Given the description of an element on the screen output the (x, y) to click on. 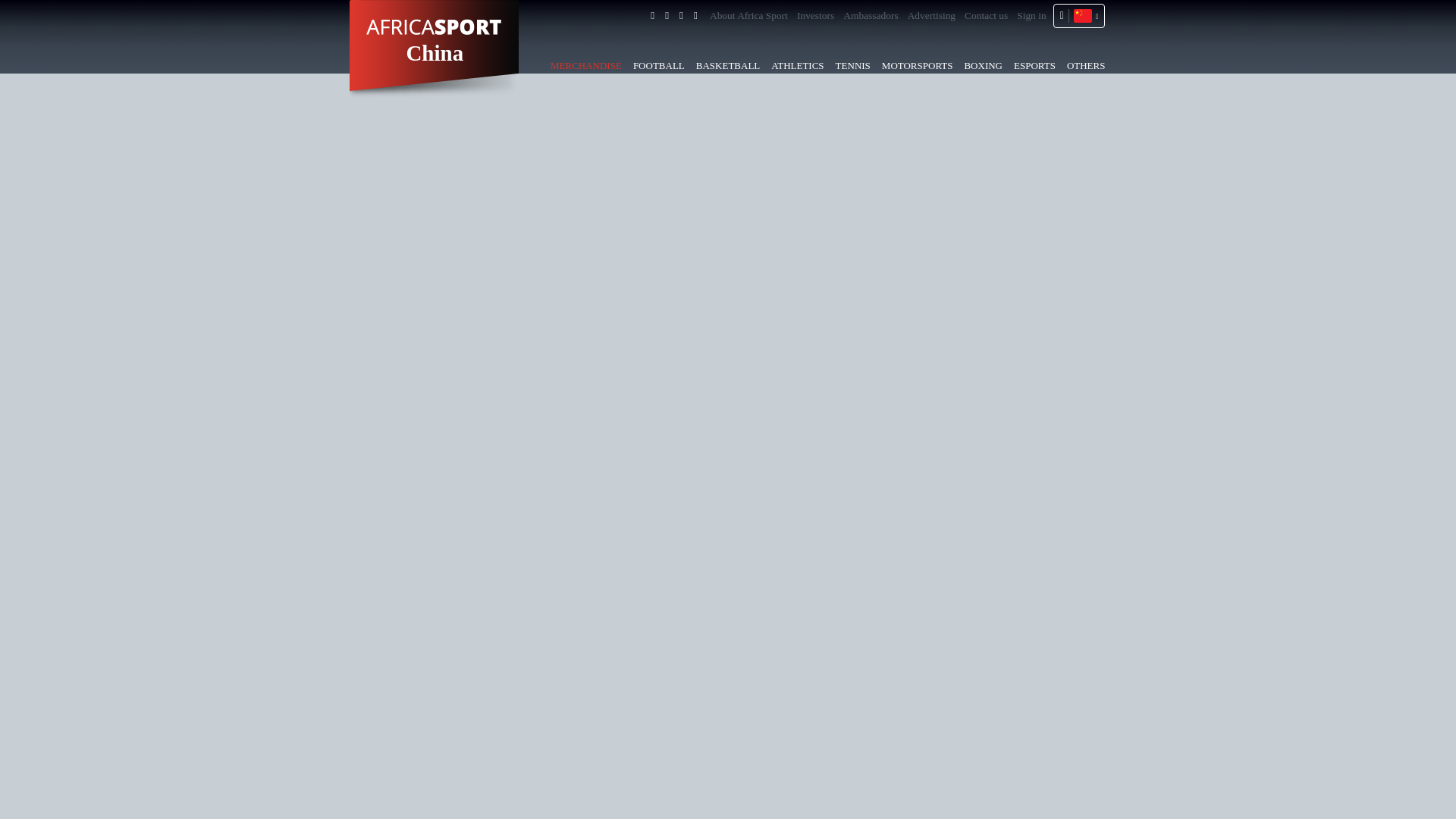
Sign in (1031, 15)
Ambassadors (870, 15)
Investors (814, 15)
Advertising (931, 15)
China (1083, 15)
Contact us (986, 15)
About Africa Sport (748, 15)
China (434, 52)
